Given the description of an element on the screen output the (x, y) to click on. 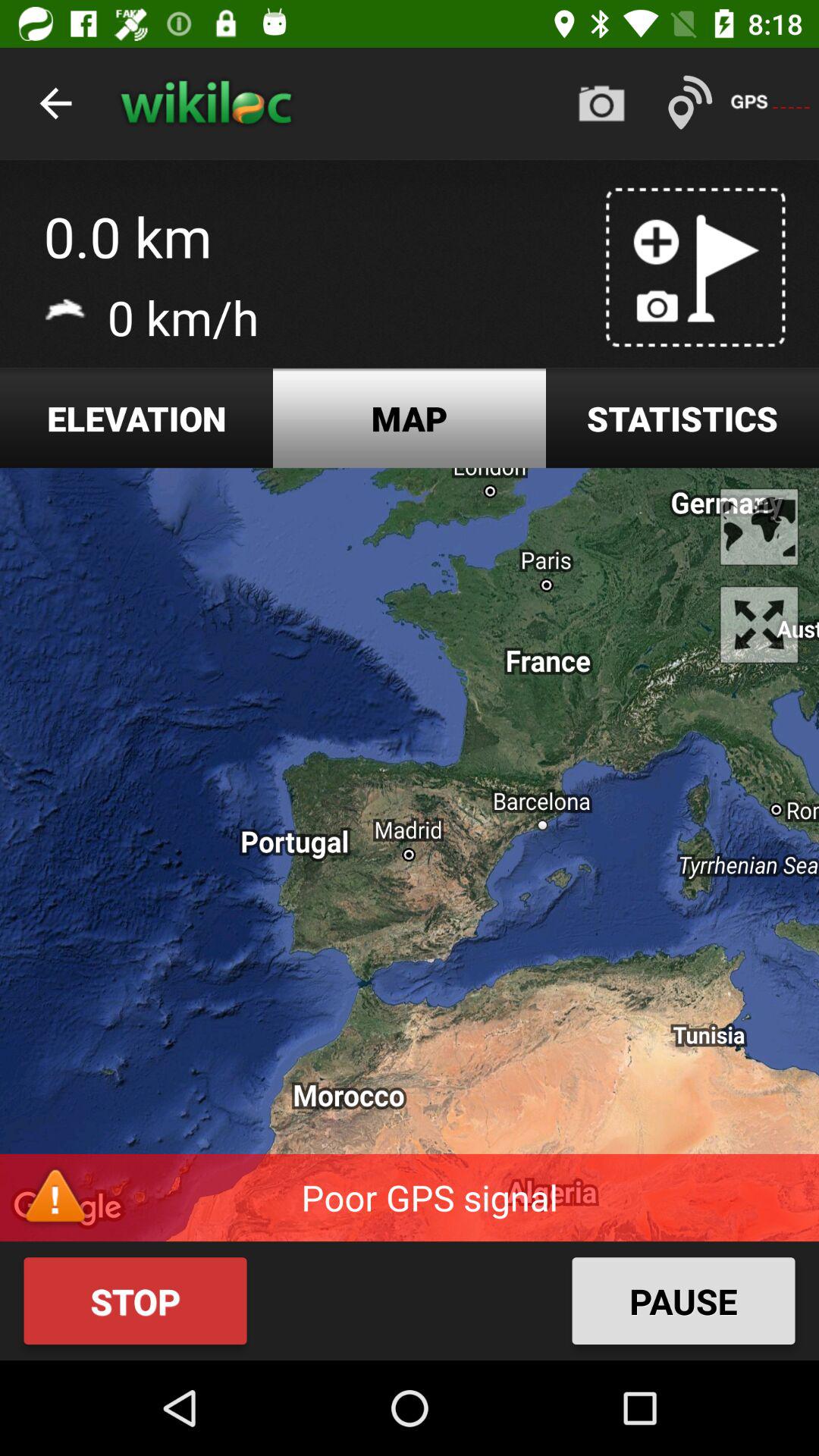
open the elevation item (136, 418)
